Given the description of an element on the screen output the (x, y) to click on. 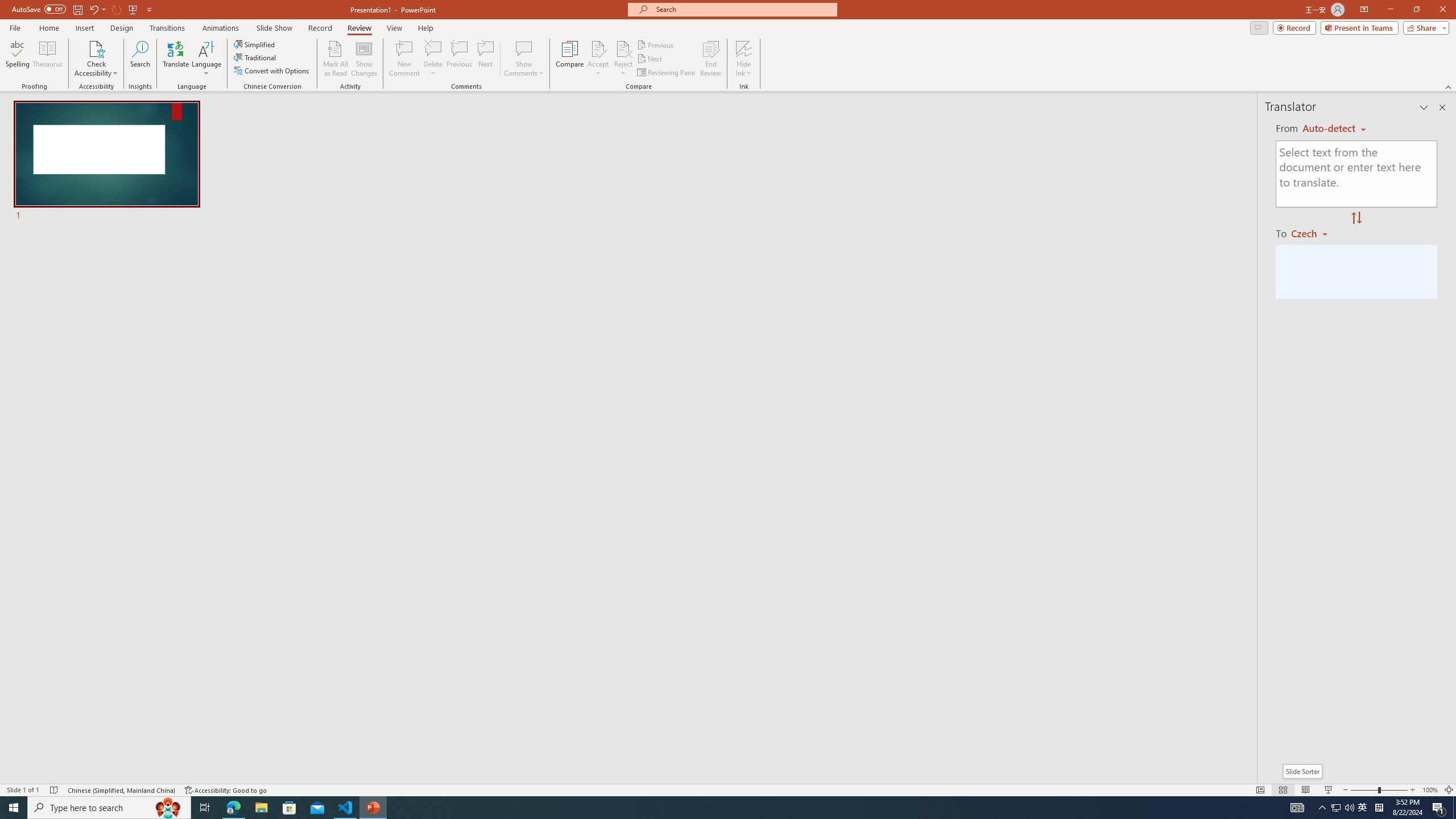
Show Comments (524, 48)
Czech (1313, 232)
Show Comments (524, 58)
Search (140, 58)
Reject (622, 58)
Simplified (254, 44)
Compare (569, 58)
Spell Check No Errors (54, 790)
